Given the description of an element on the screen output the (x, y) to click on. 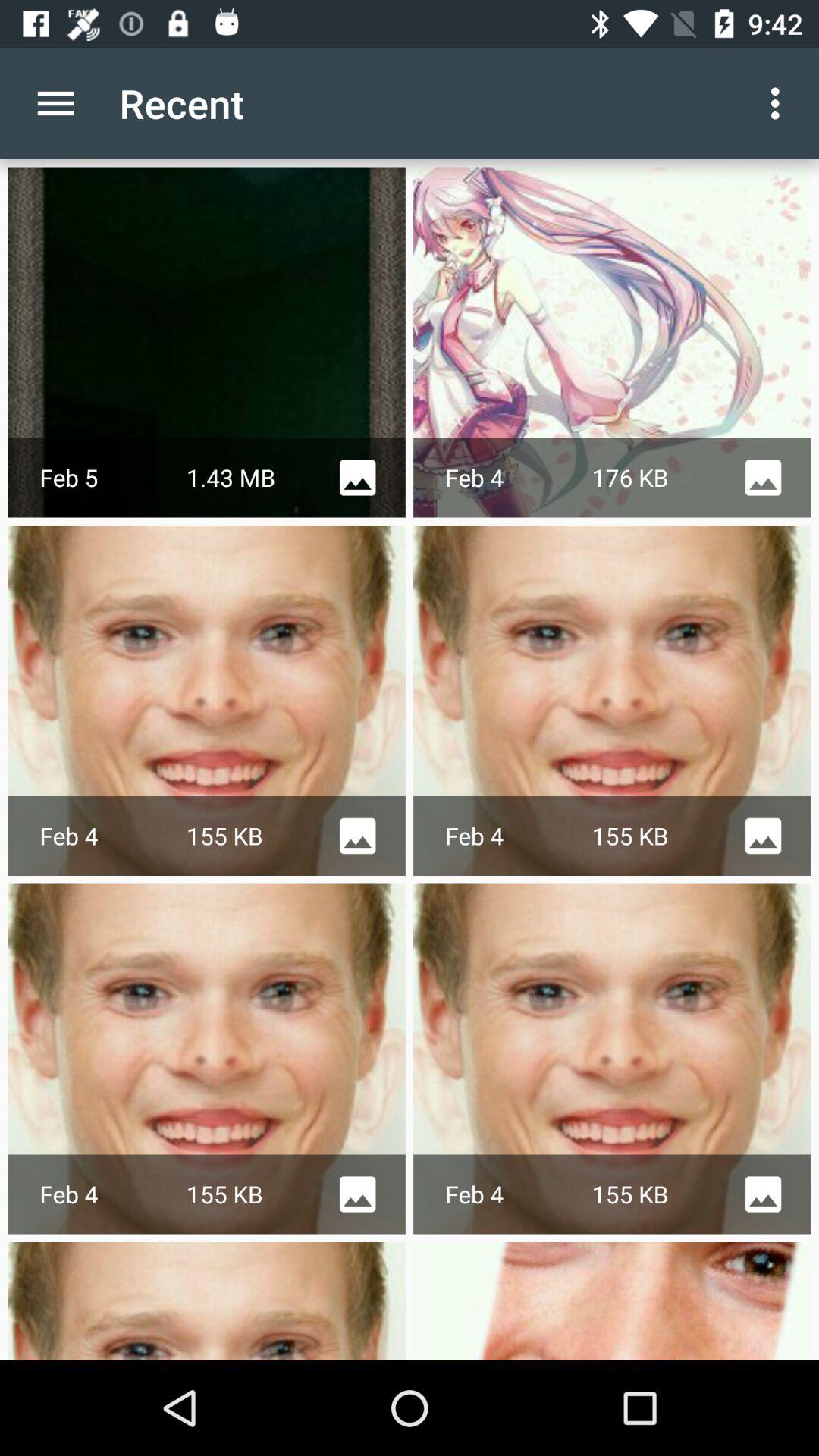
tap icon to the left of recent (55, 103)
